Given the description of an element on the screen output the (x, y) to click on. 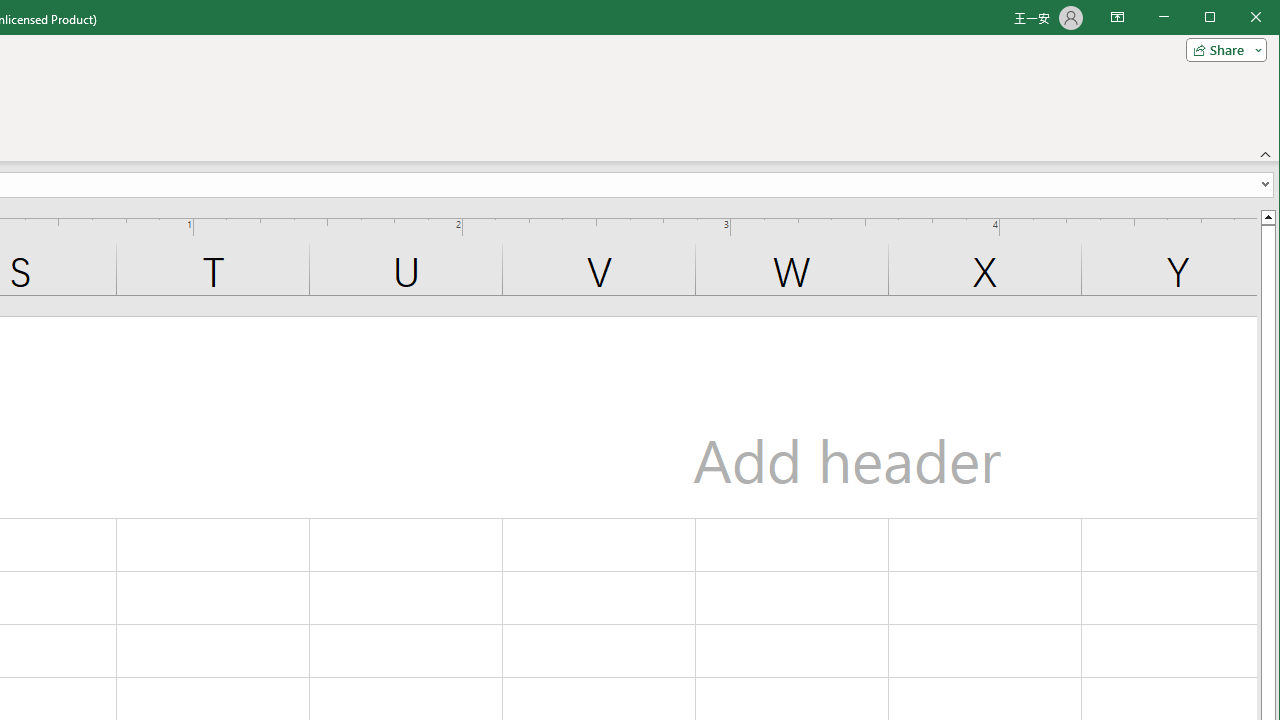
Maximize (1238, 18)
